Given the description of an element on the screen output the (x, y) to click on. 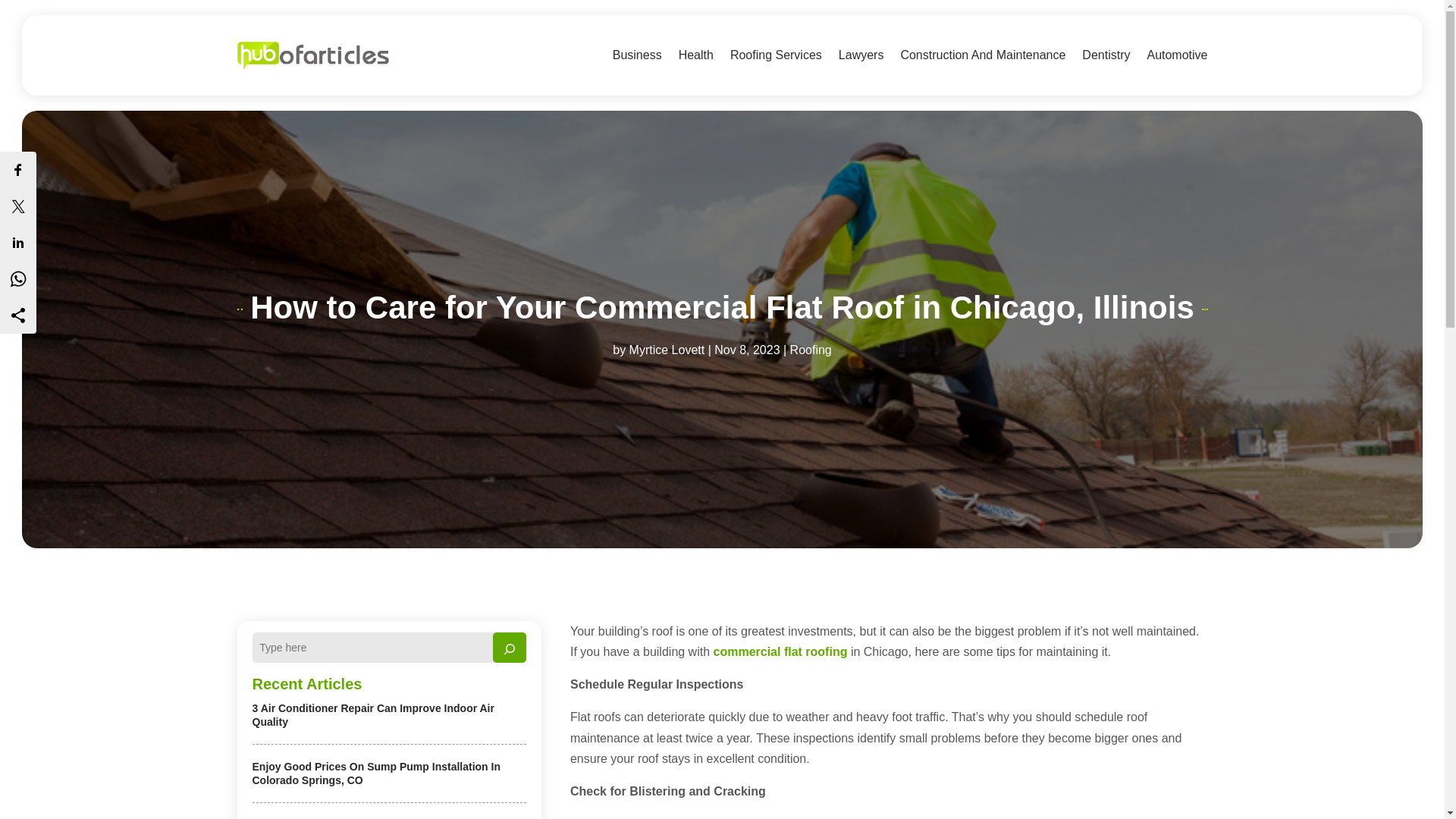
Posts by Myrtice Lovett (666, 349)
Lawyers (860, 55)
Construction And Maintenance (982, 55)
Health (695, 55)
Roofing (810, 349)
Roofing Services (776, 55)
Dentistry (1105, 55)
Business (637, 55)
Myrtice Lovett (666, 349)
3 Air Conditioner Repair Can Improve Indoor Air Quality (372, 714)
Automotive (1177, 55)
